Given the description of an element on the screen output the (x, y) to click on. 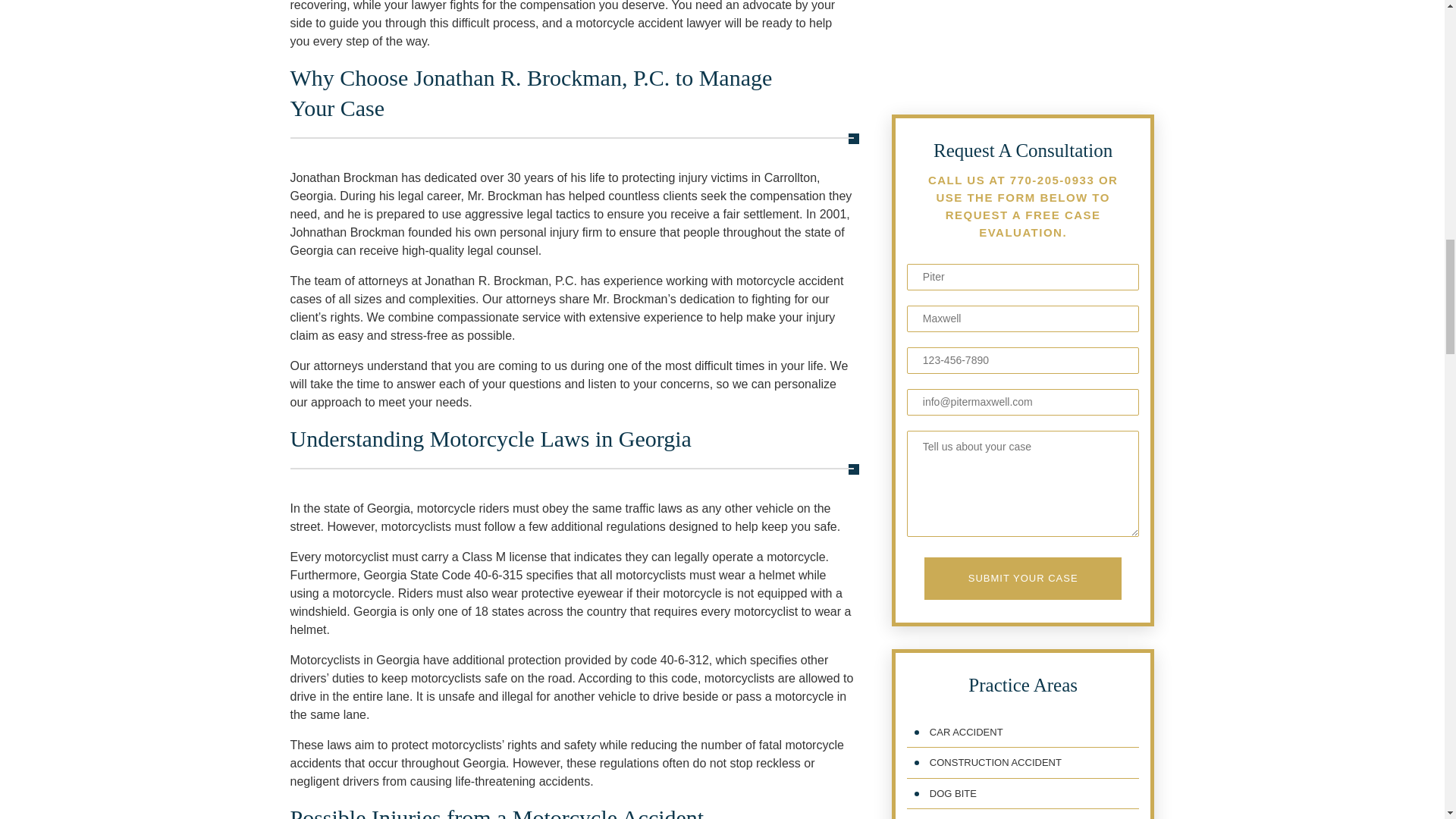
Submit Your Case (1022, 364)
